Given the description of an element on the screen output the (x, y) to click on. 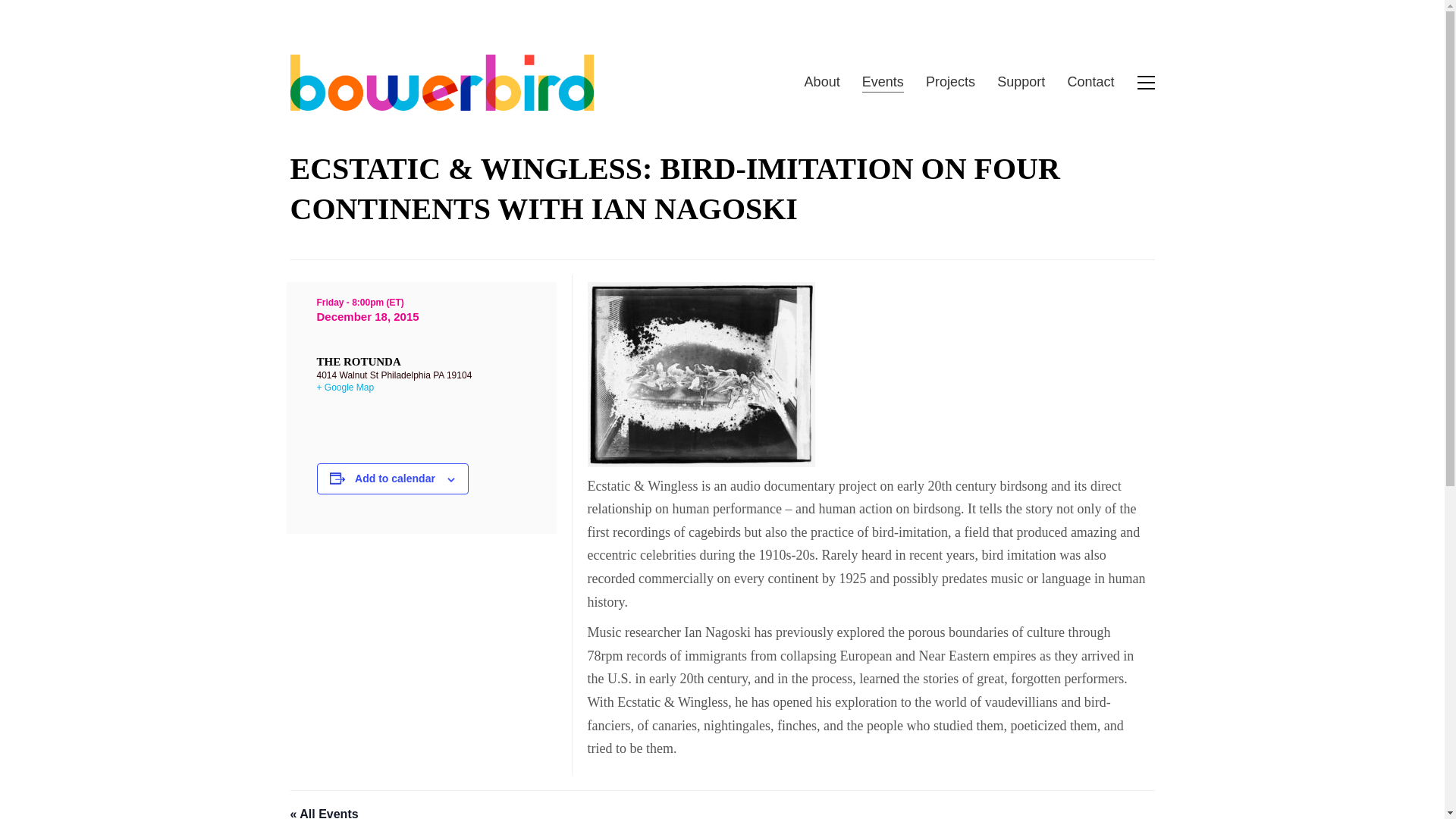
Events (882, 82)
About (822, 82)
Contact (1090, 82)
Support (1021, 82)
Click to view a Google Map (345, 387)
Add to calendar (395, 478)
Projects (950, 82)
